Given the description of an element on the screen output the (x, y) to click on. 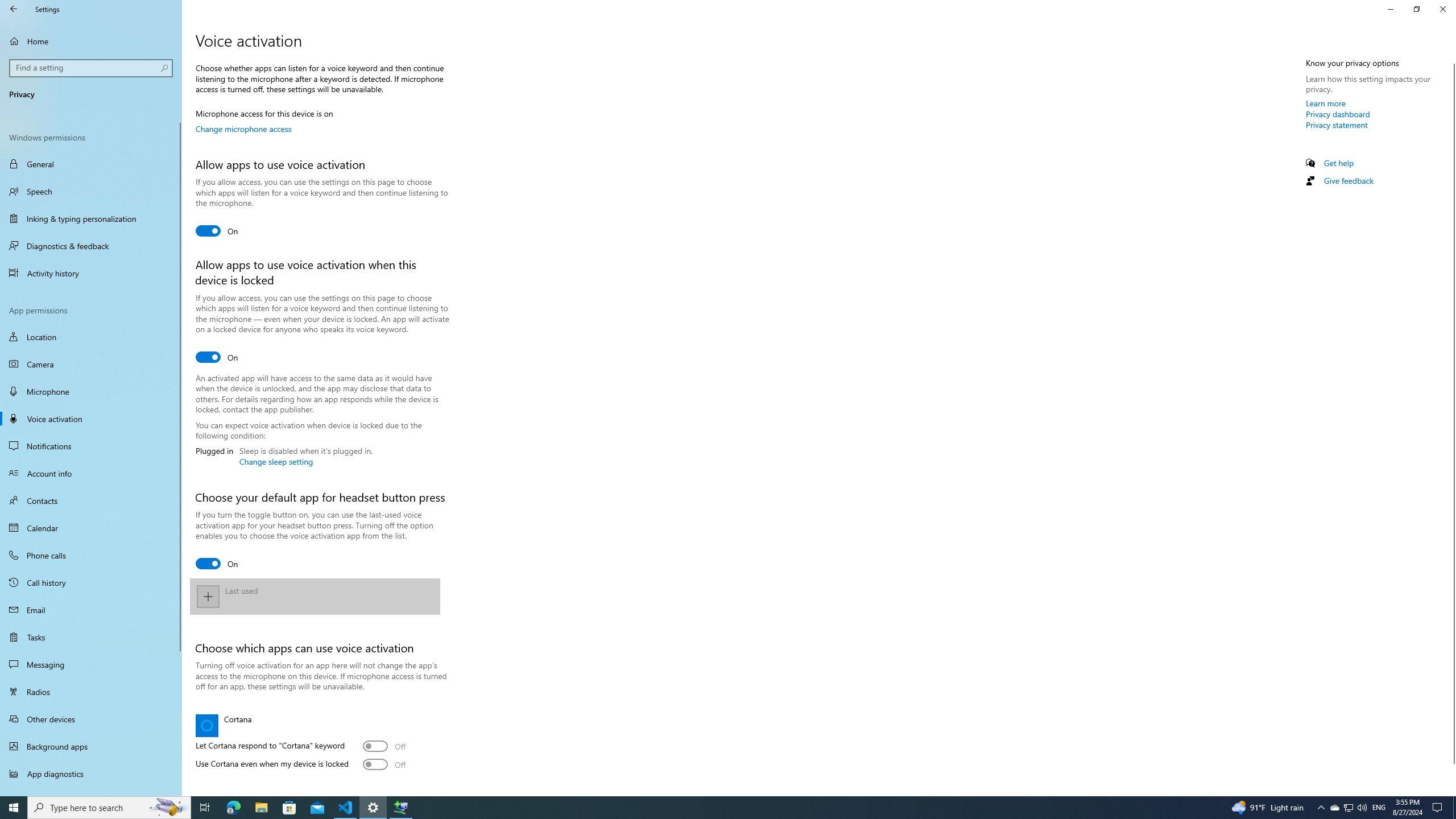
Give feedback (1348, 180)
Vertical Large Increase (1451, 775)
Tasks (91, 636)
Search box, Find a setting (91, 67)
Privacy statement (1336, 124)
Inking & typing personalization (91, 217)
Other devices (91, 718)
Change sleep setting (275, 461)
Privacy dashboard (1338, 113)
Change microphone access (243, 128)
Notifications (91, 445)
Microphone (91, 390)
